Given the description of an element on the screen output the (x, y) to click on. 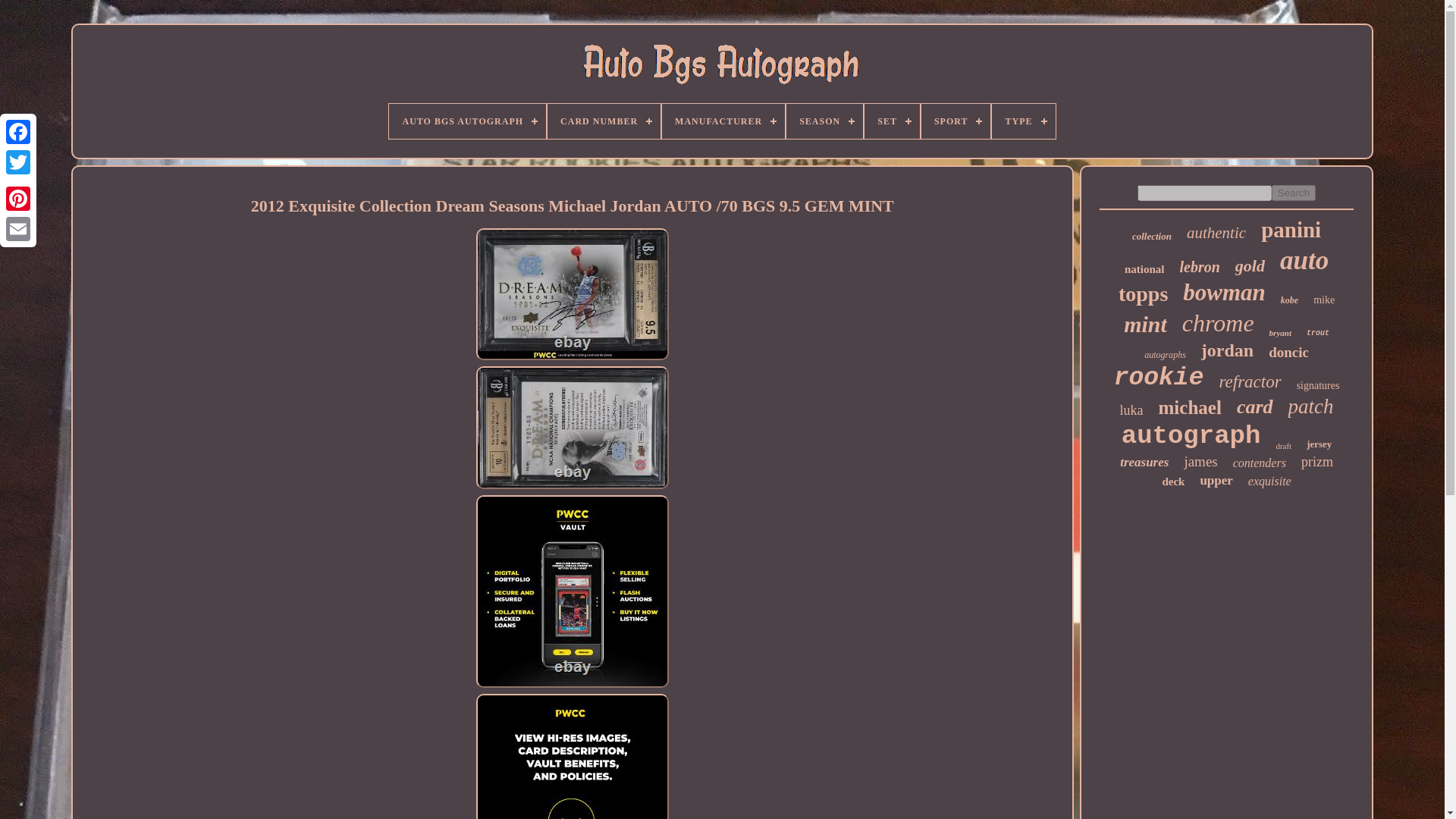
Search (1293, 192)
Pinterest (17, 198)
CARD NUMBER (604, 121)
MANUFACTURER (723, 121)
AUTO BGS AUTOGRAPH (467, 121)
